Given the description of an element on the screen output the (x, y) to click on. 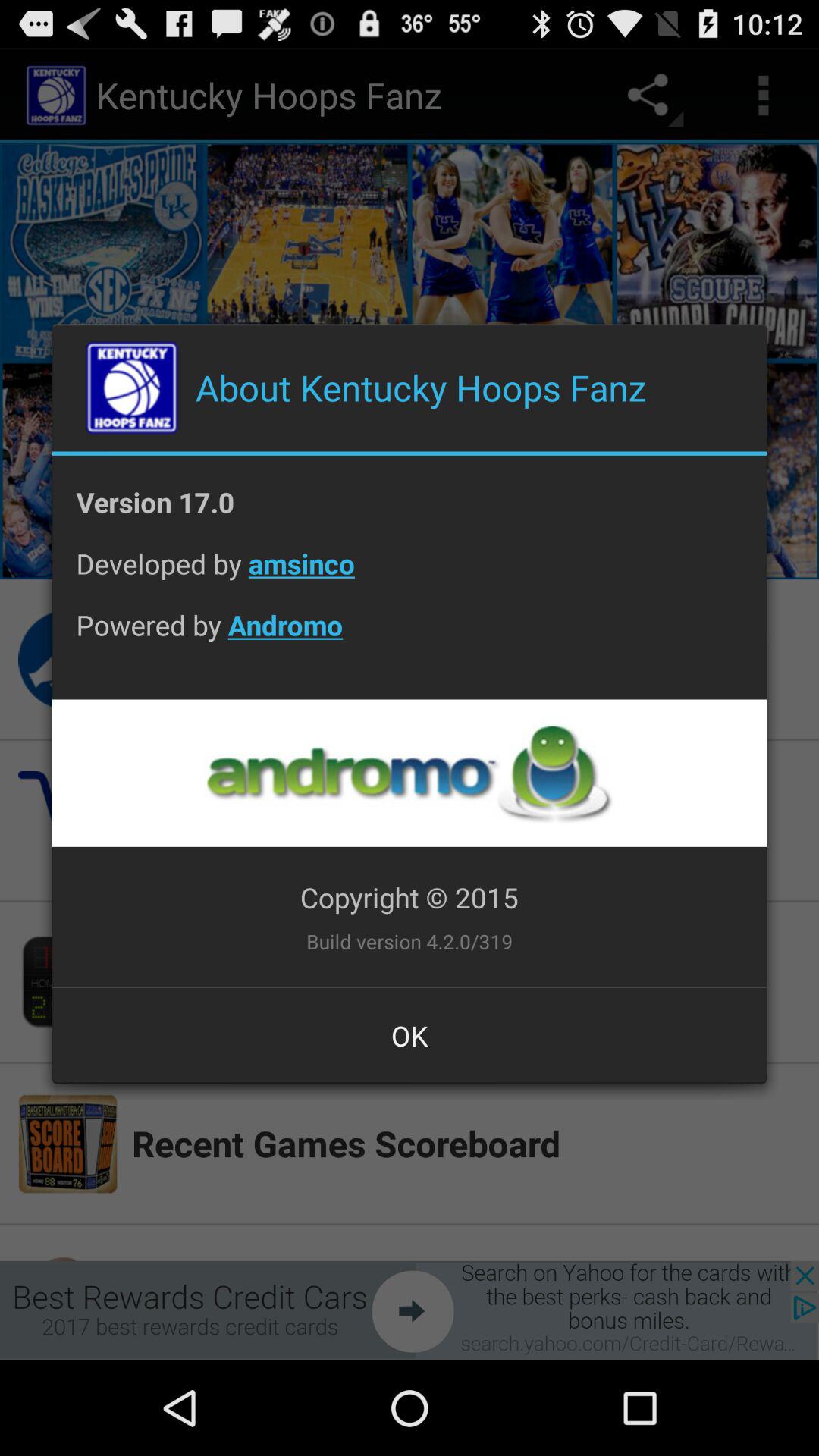
press icon above the powered by andromo (409, 575)
